Given the description of an element on the screen output the (x, y) to click on. 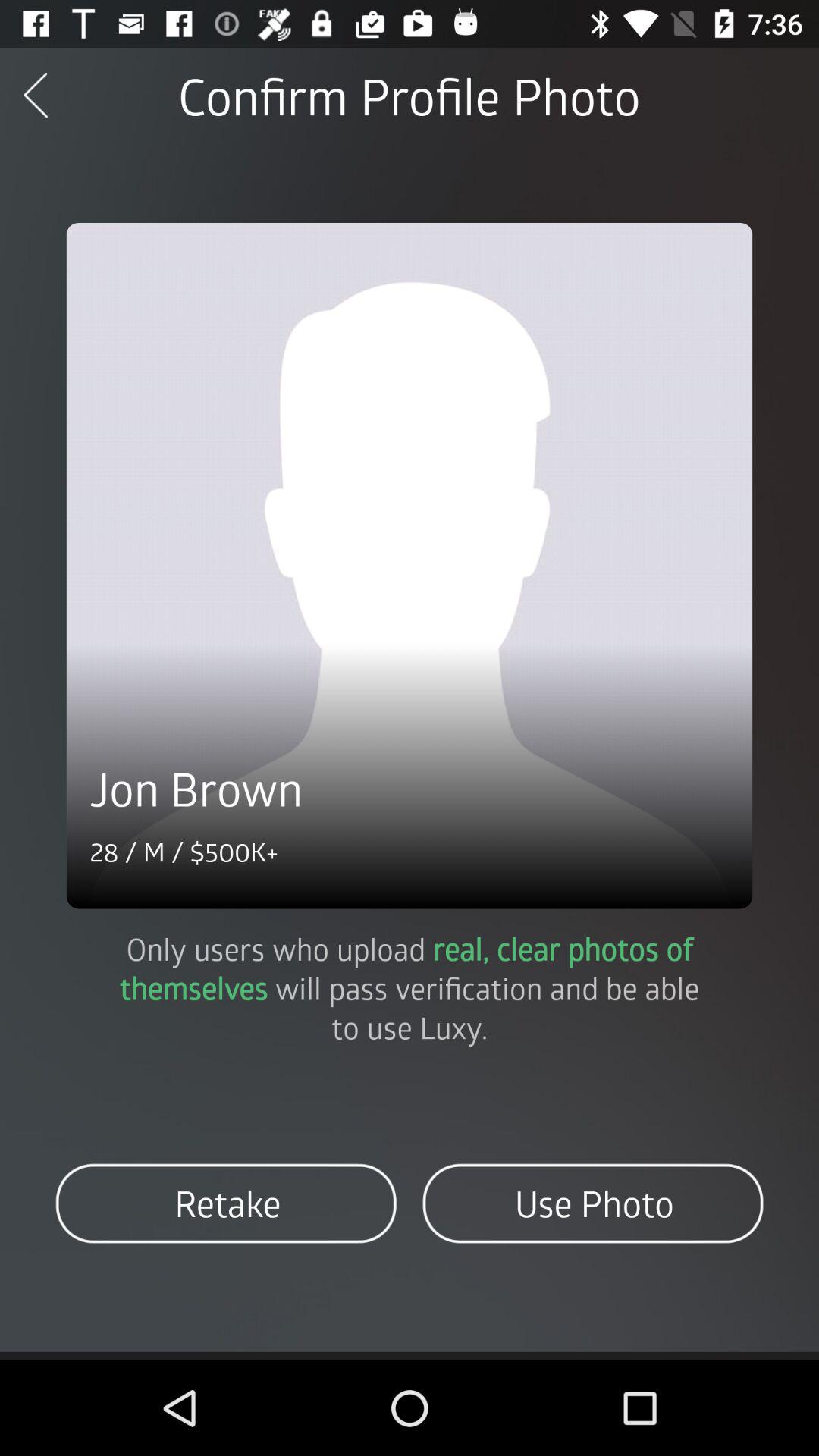
click icon below only users who (225, 1203)
